Given the description of an element on the screen output the (x, y) to click on. 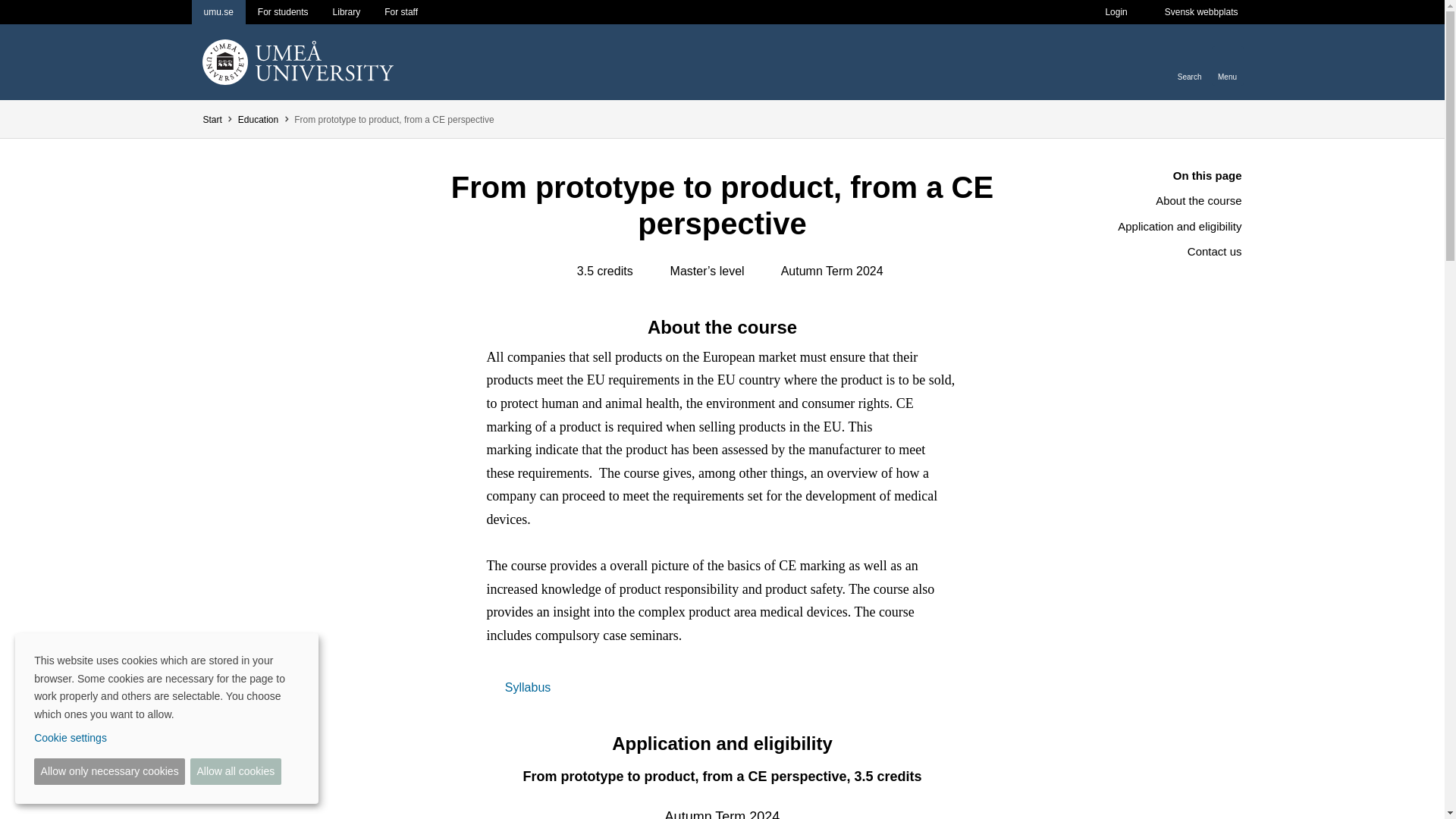
Syllabus (518, 687)
Application and eligibility (1164, 226)
Login (1114, 12)
Start (211, 119)
Staff website Aurora (400, 12)
Student website (283, 12)
Number of credits (566, 270)
Library (346, 12)
Library website (346, 12)
About the course (1164, 201)
Level (659, 270)
Contact us (1164, 251)
Starting (771, 270)
Svensk webbplats (1201, 12)
Education (258, 119)
